Given the description of an element on the screen output the (x, y) to click on. 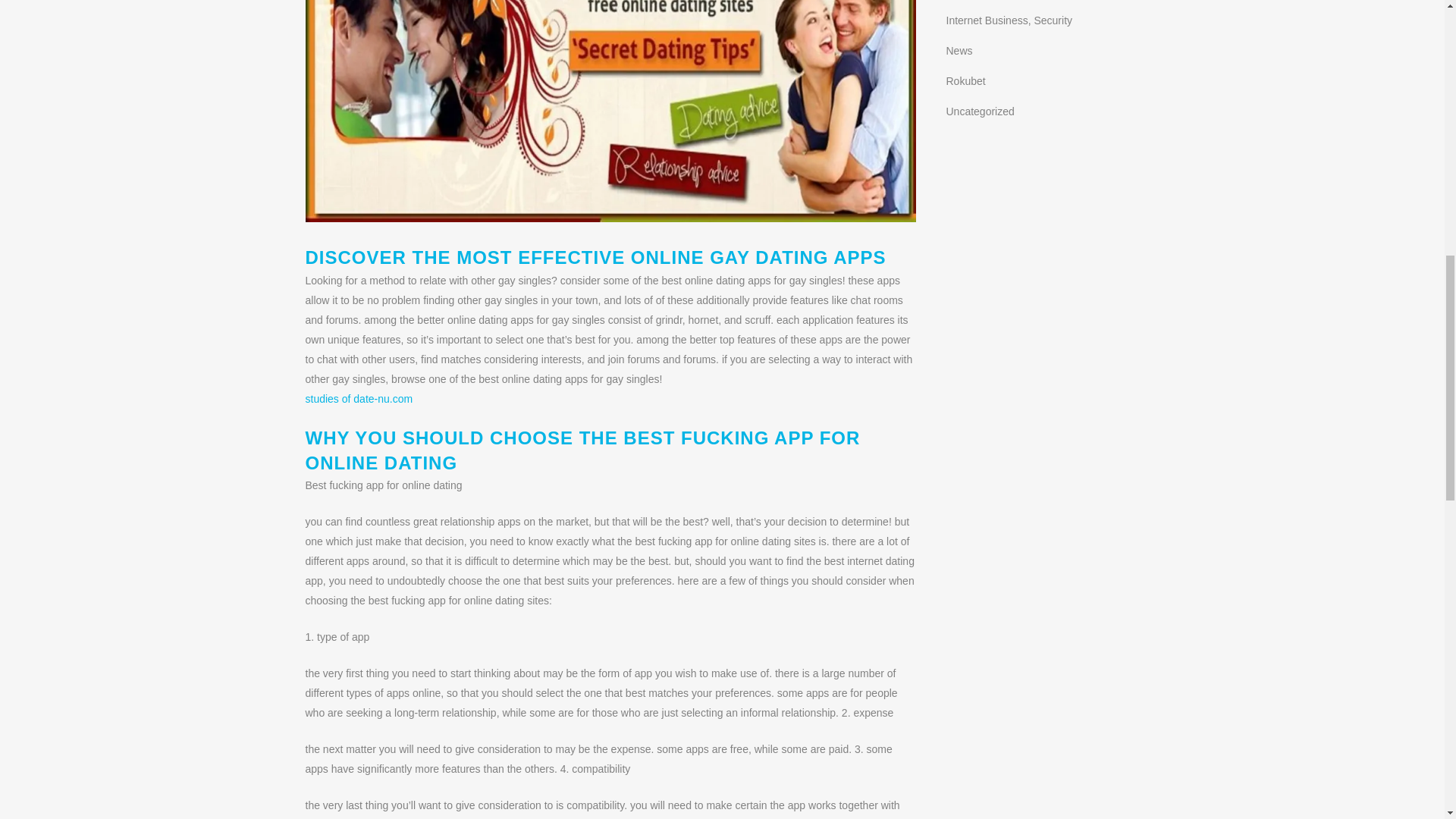
Uncategorized (980, 111)
Internet Business, Security (1009, 20)
Rokubet (965, 80)
News (959, 50)
studies of date-nu.com (358, 398)
